Given the description of an element on the screen output the (x, y) to click on. 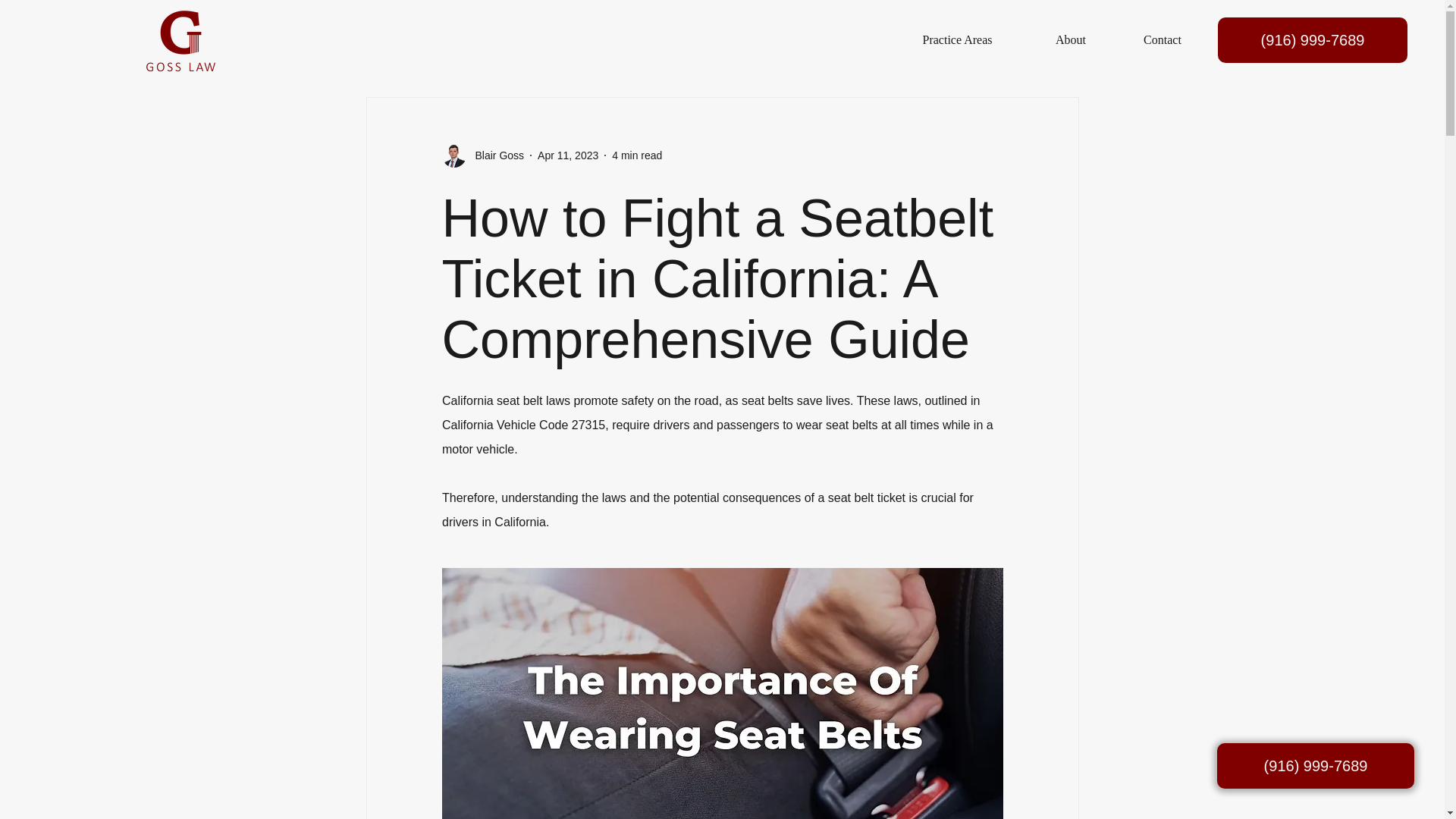
Blair Goss (494, 154)
Contact (1162, 39)
Apr 11, 2023 (567, 154)
4 min read (636, 154)
